Given the description of an element on the screen output the (x, y) to click on. 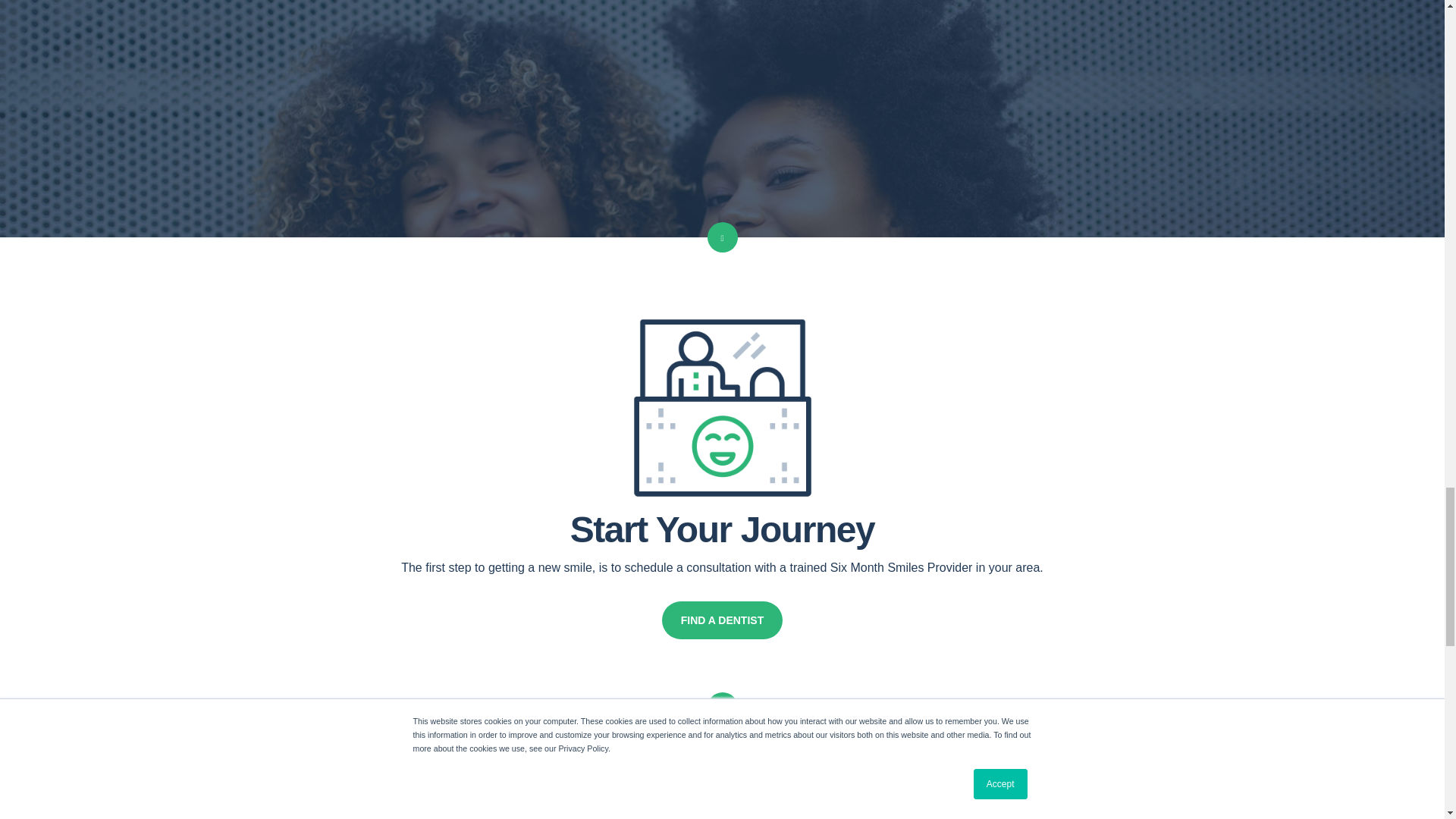
FIND A DENTIST (722, 620)
